Given the description of an element on the screen output the (x, y) to click on. 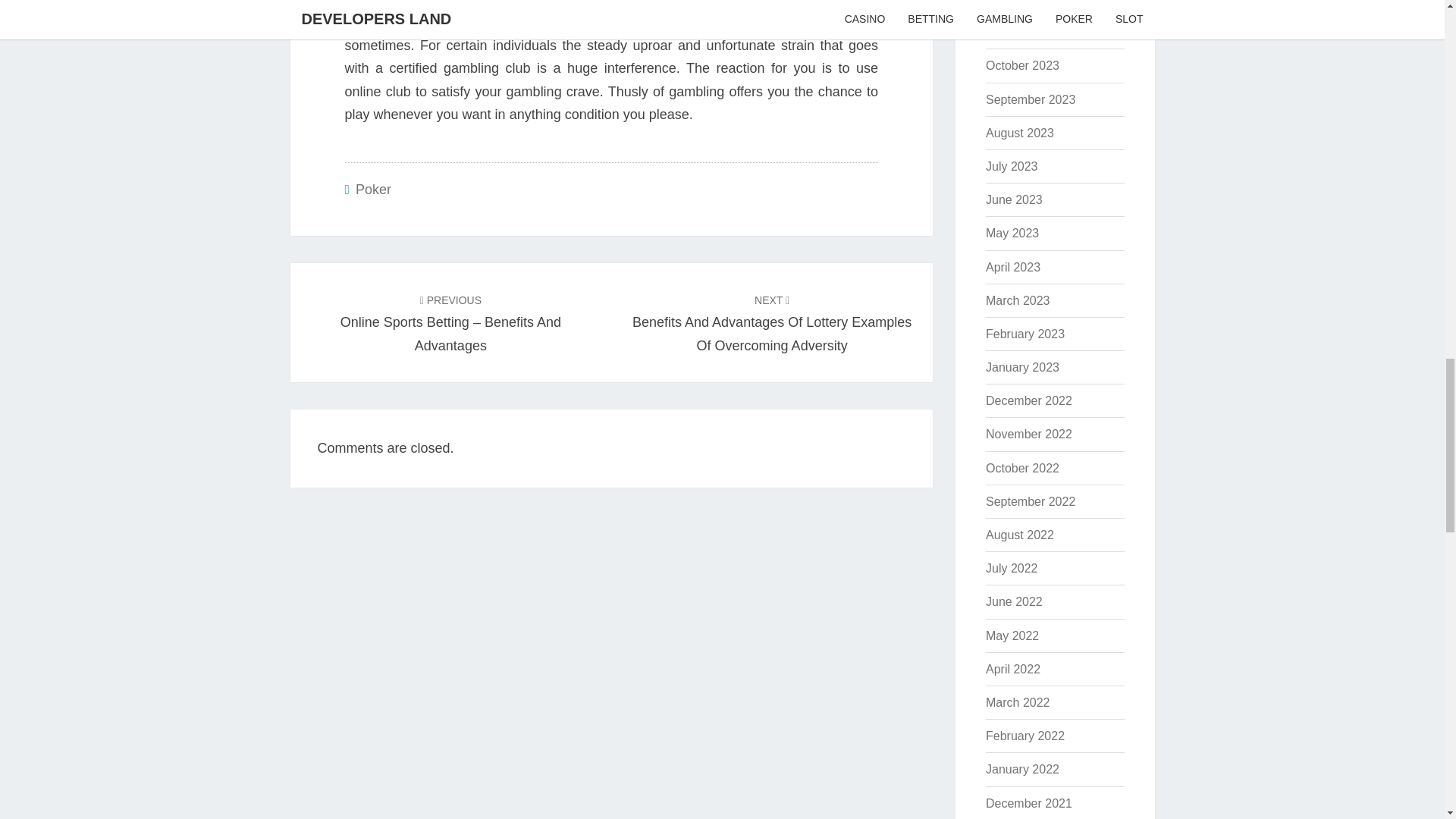
September 2023 (1030, 99)
December 2023 (1028, 2)
February 2023 (1024, 333)
August 2023 (1019, 132)
July 2023 (1011, 165)
November 2023 (1028, 31)
October 2023 (1022, 65)
March 2023 (1017, 300)
December 2022 (1028, 400)
April 2023 (1013, 267)
May 2023 (1012, 232)
January 2023 (1022, 367)
June 2023 (1013, 199)
Poker (373, 189)
